Given the description of an element on the screen output the (x, y) to click on. 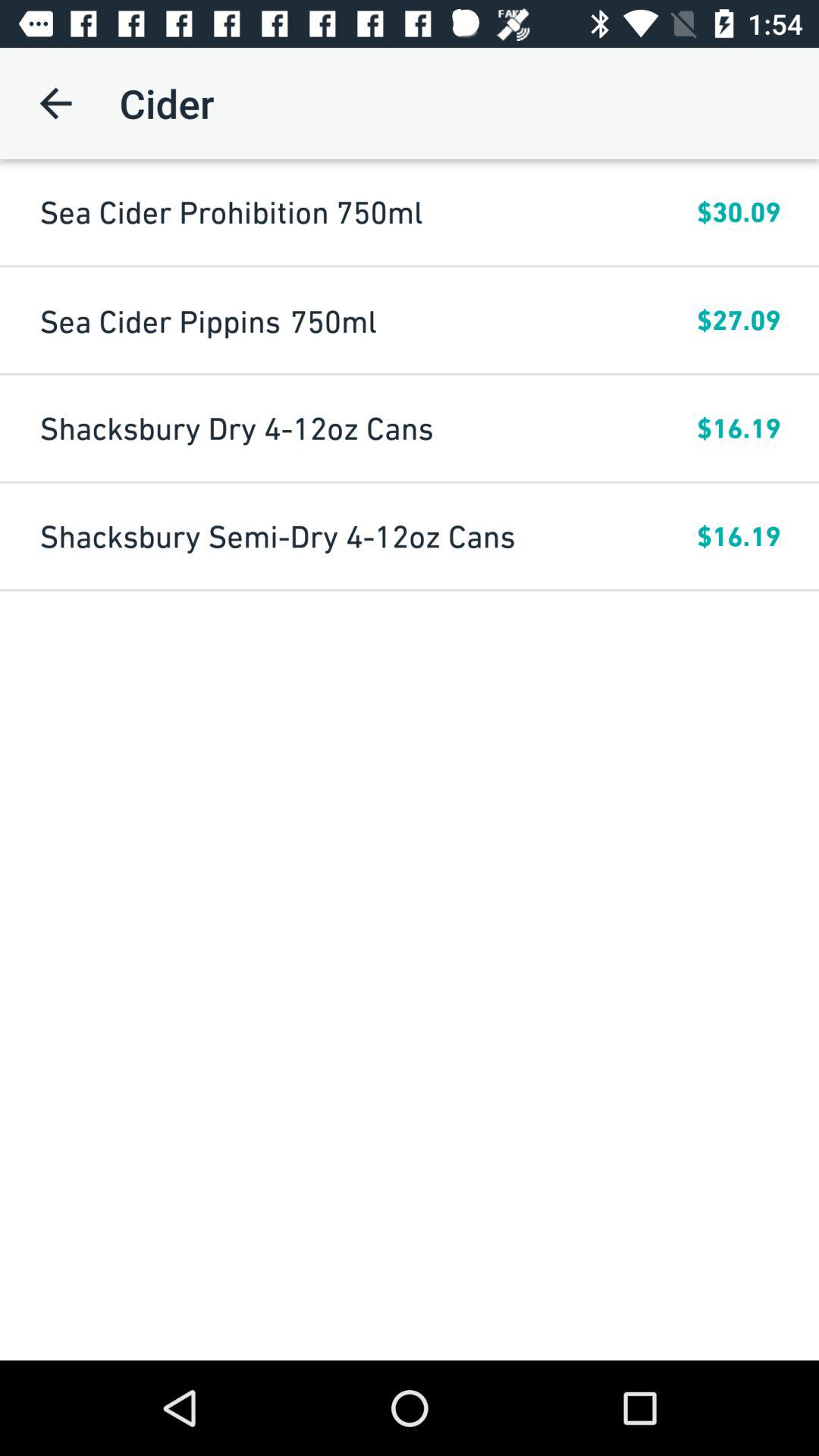
open the item above the sea cider prohibition icon (55, 103)
